Given the description of an element on the screen output the (x, y) to click on. 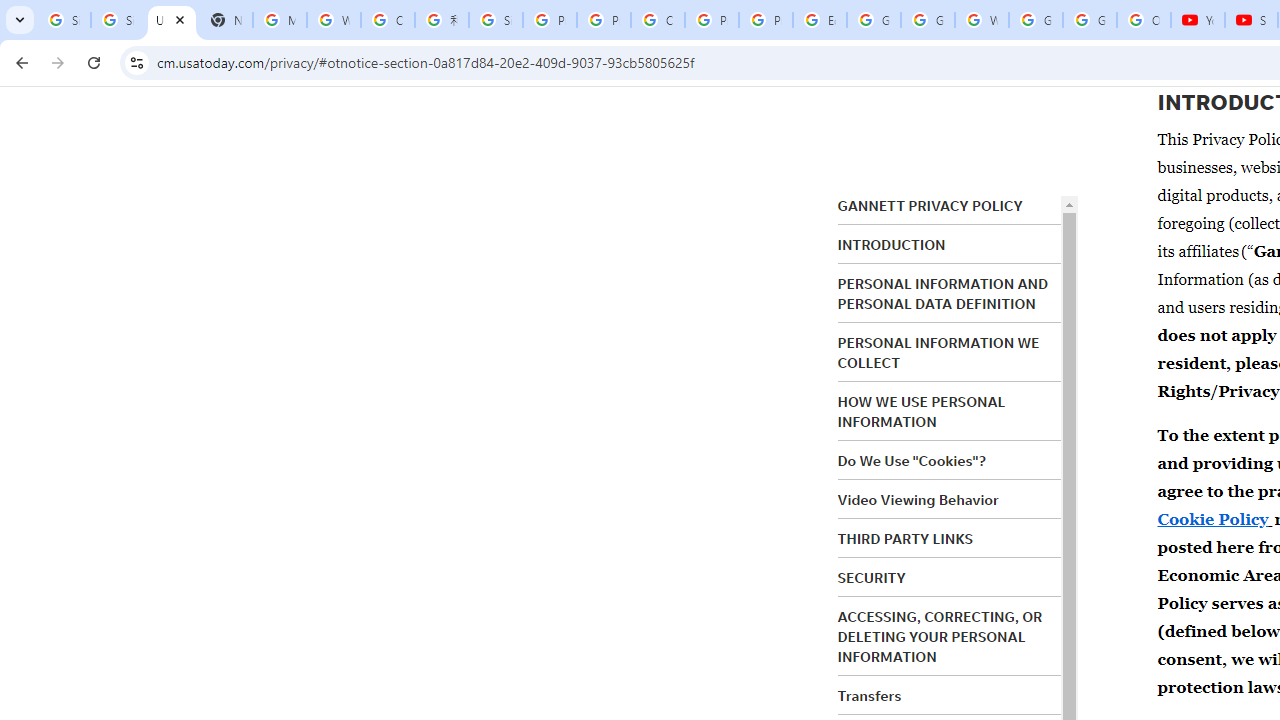
HOW WE USE PERSONAL INFORMATION (921, 412)
YouTube (1197, 20)
Sign in - Google Accounts (117, 20)
Do We Use "Cookies"? (911, 461)
Edit and view right-to-left text - Google Docs Editors Help (819, 20)
USA TODAY (171, 20)
Back (19, 62)
Transfers (869, 695)
PERSONAL INFORMATION WE COLLECT (938, 353)
